Given the description of an element on the screen output the (x, y) to click on. 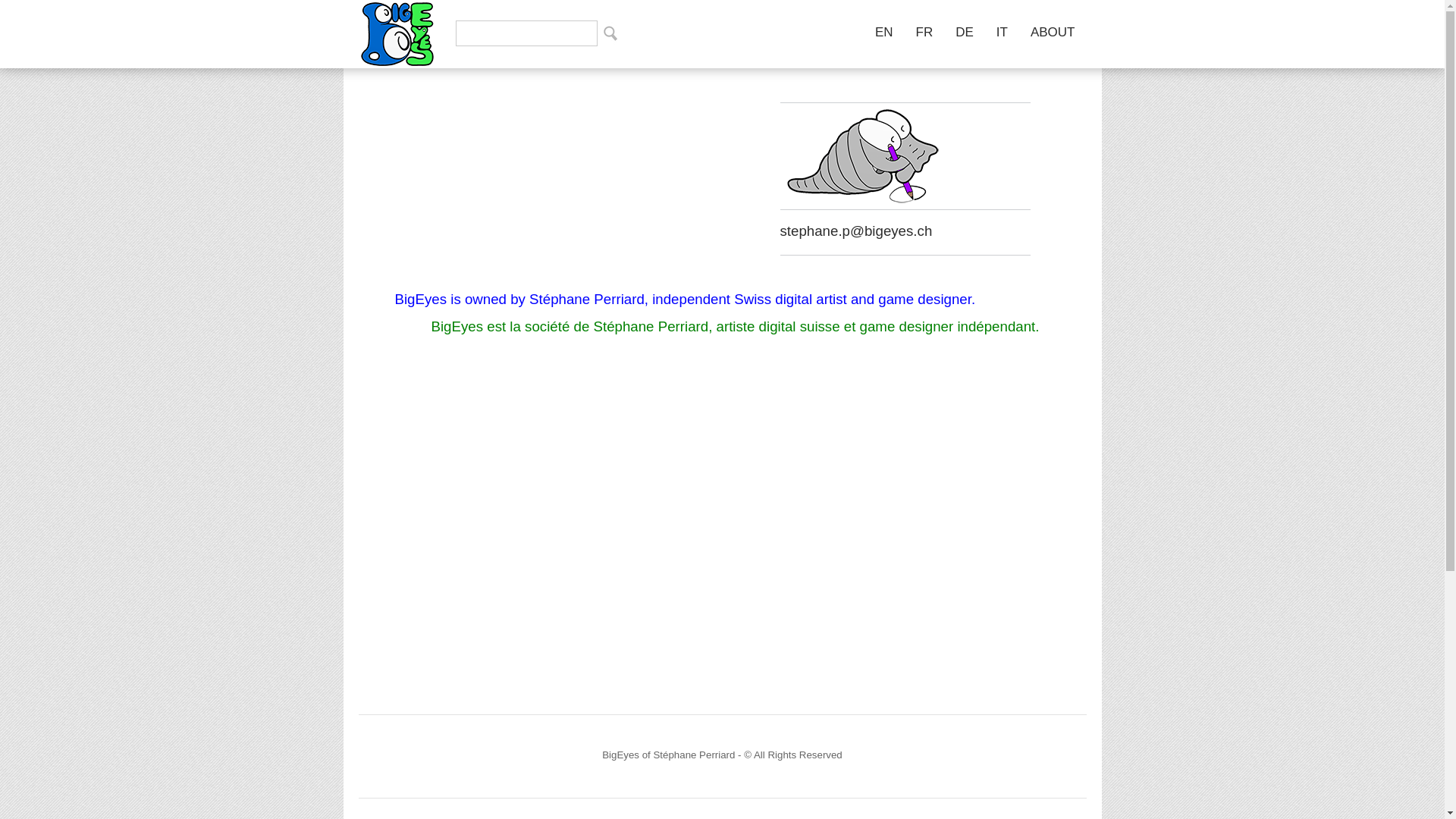
FR Element type: text (924, 31)
ABOUT Element type: text (1052, 31)
IT Element type: text (1001, 31)
DE Element type: text (964, 31)
EN Element type: text (884, 31)
